Given the description of an element on the screen output the (x, y) to click on. 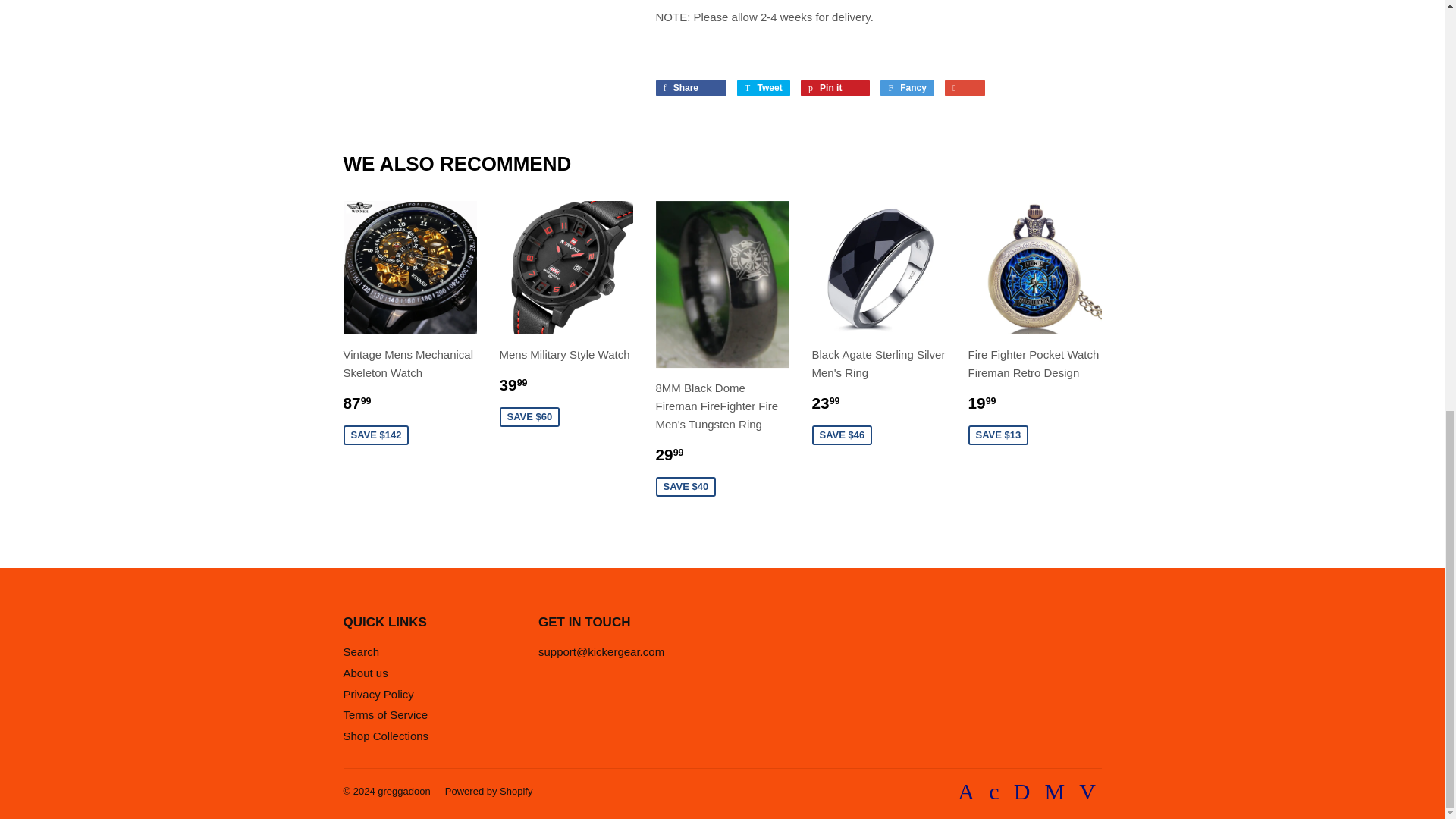
About us (364, 672)
Pin it (834, 87)
Tweet (763, 87)
greggadoon (403, 790)
Shop Collections (385, 735)
Share (690, 87)
Fancy (907, 87)
Privacy Policy (377, 694)
Search (360, 651)
Terms of Service (385, 714)
